Given the description of an element on the screen output the (x, y) to click on. 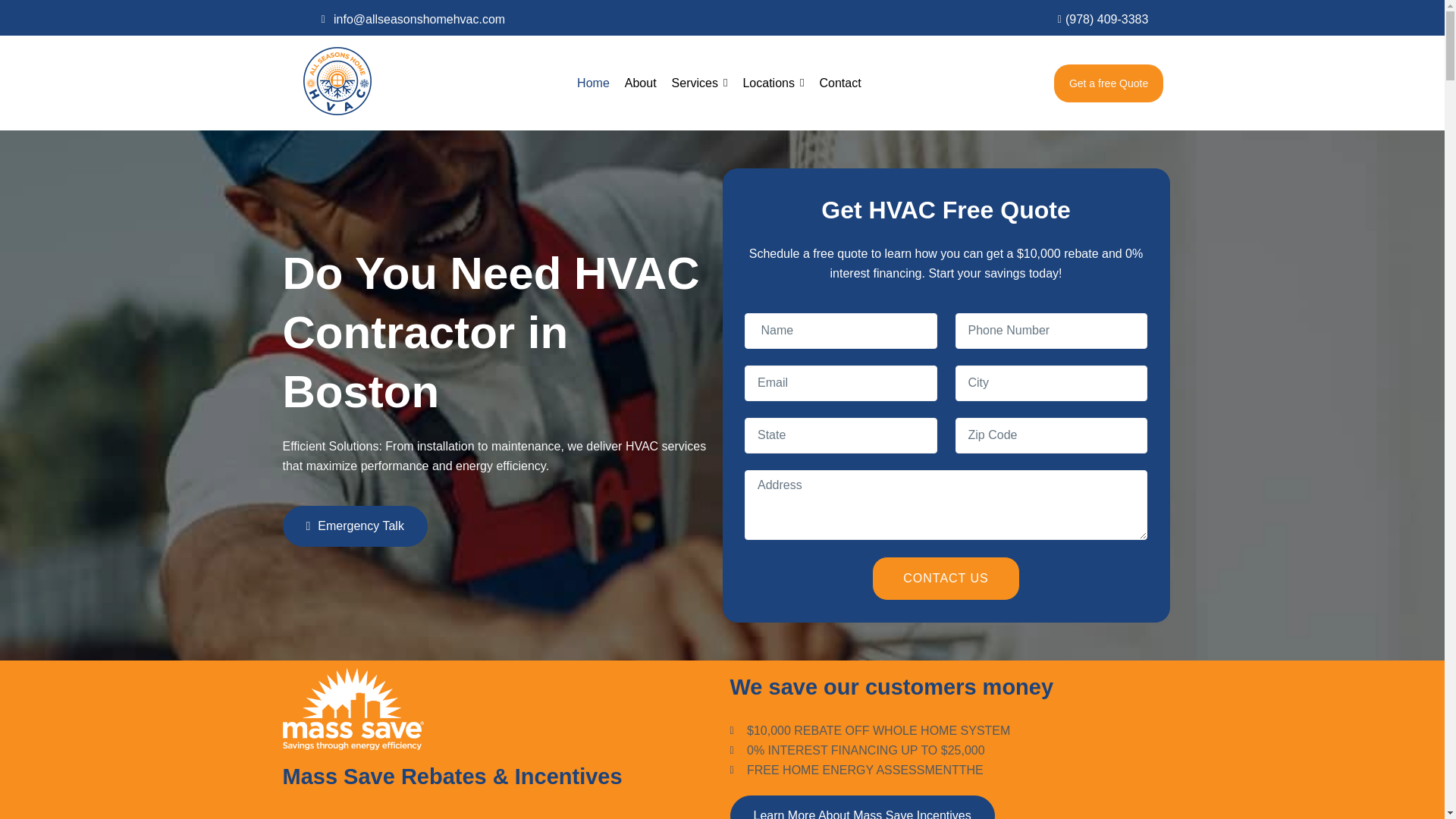
Locations (772, 82)
About (640, 82)
Services (699, 82)
HVAC-LOGO (336, 80)
Home (593, 82)
